Given the description of an element on the screen output the (x, y) to click on. 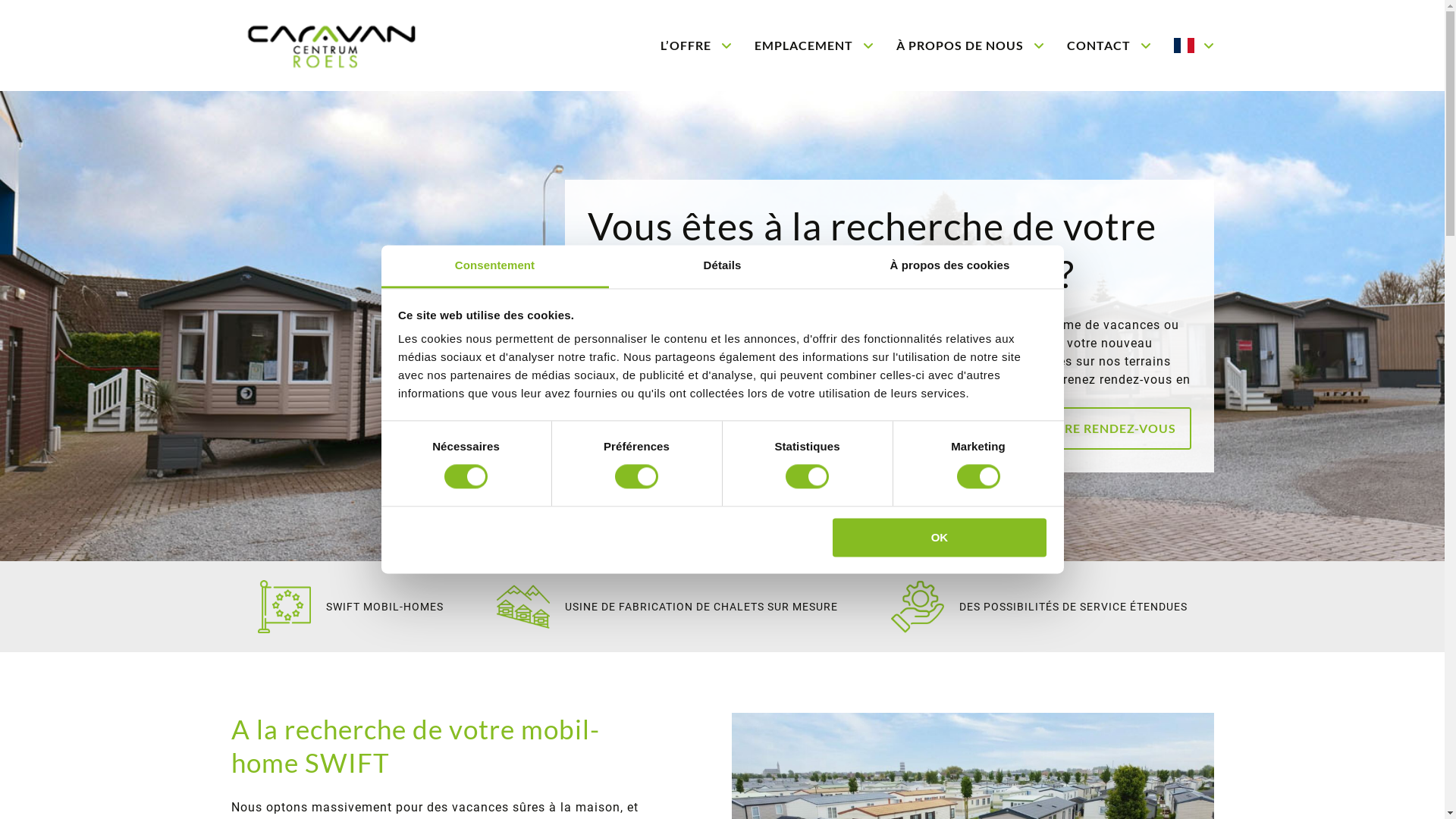
service Element type: hover (916, 606)
CONTACT Element type: text (1108, 45)
OK Element type: text (939, 536)
europa Element type: hover (283, 606)
SWIFT MOBIL-HOMES Element type: text (350, 606)
EMPLACEMENT Element type: text (812, 45)
FR Element type: text (1194, 45)
PRENDRE RENDEZ-VOUS Element type: text (1098, 428)
Consentement Element type: text (494, 266)
chalets Element type: hover (522, 606)
USINE DE FABRICATION DE CHALETS SUR MESURE Element type: text (666, 606)
mobiel-logo-caravancentrumroels Element type: hover (361, 45)
